Given the description of an element on the screen output the (x, y) to click on. 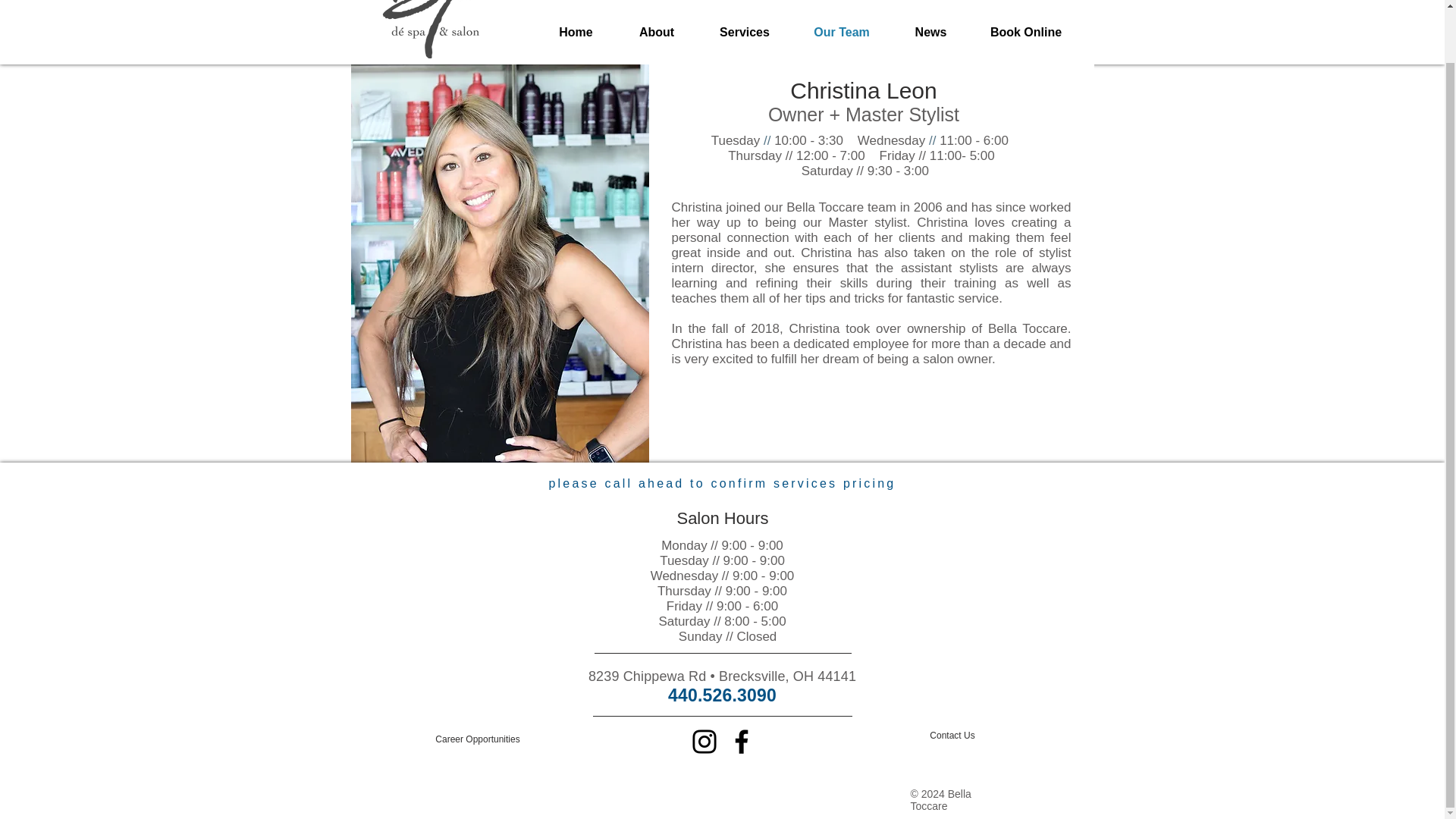
News (931, 32)
Our Team (841, 32)
Home (575, 32)
Career Opportunities (477, 739)
Book Online (1026, 32)
440.526.3090 (722, 695)
Contact Us (952, 736)
 please call ahead to confirm services pricing  (722, 482)
